Given the description of an element on the screen output the (x, y) to click on. 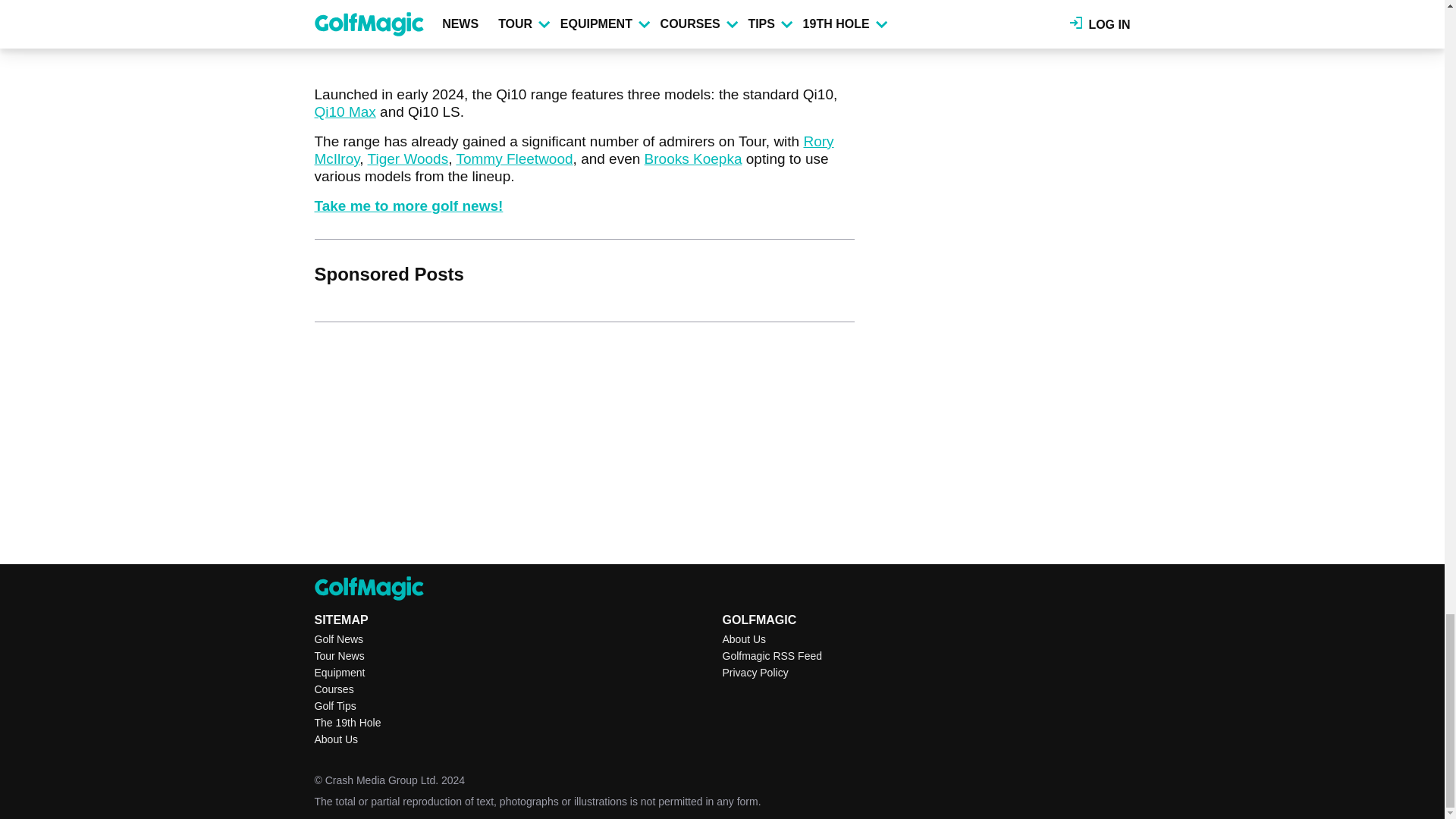
YouTube video player (526, 20)
